Given the description of an element on the screen output the (x, y) to click on. 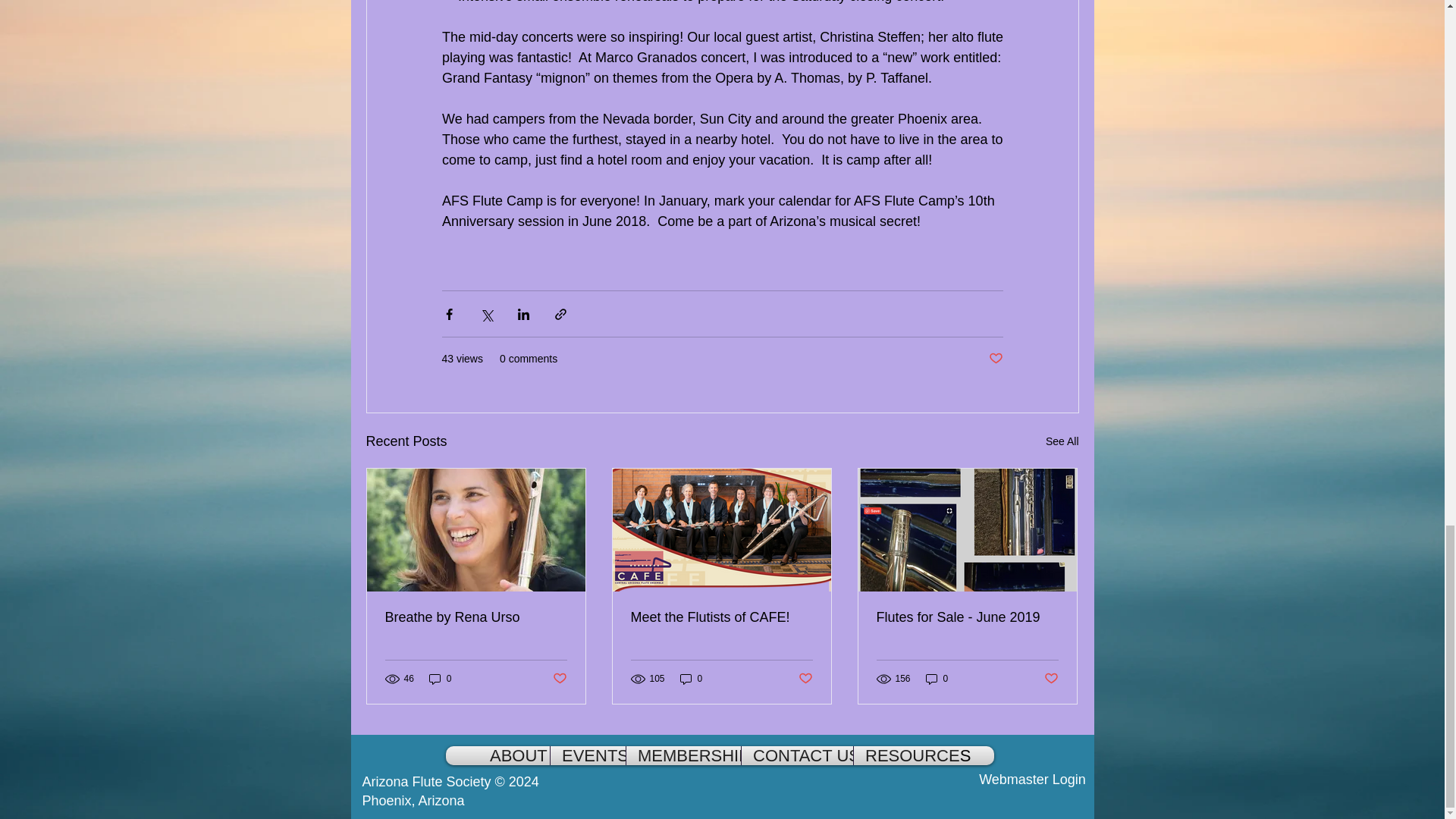
Breathe by Rena Urso (476, 617)
Post not marked as liked (995, 358)
Post not marked as liked (558, 678)
See All (1061, 441)
0 (440, 677)
